Given the description of an element on the screen output the (x, y) to click on. 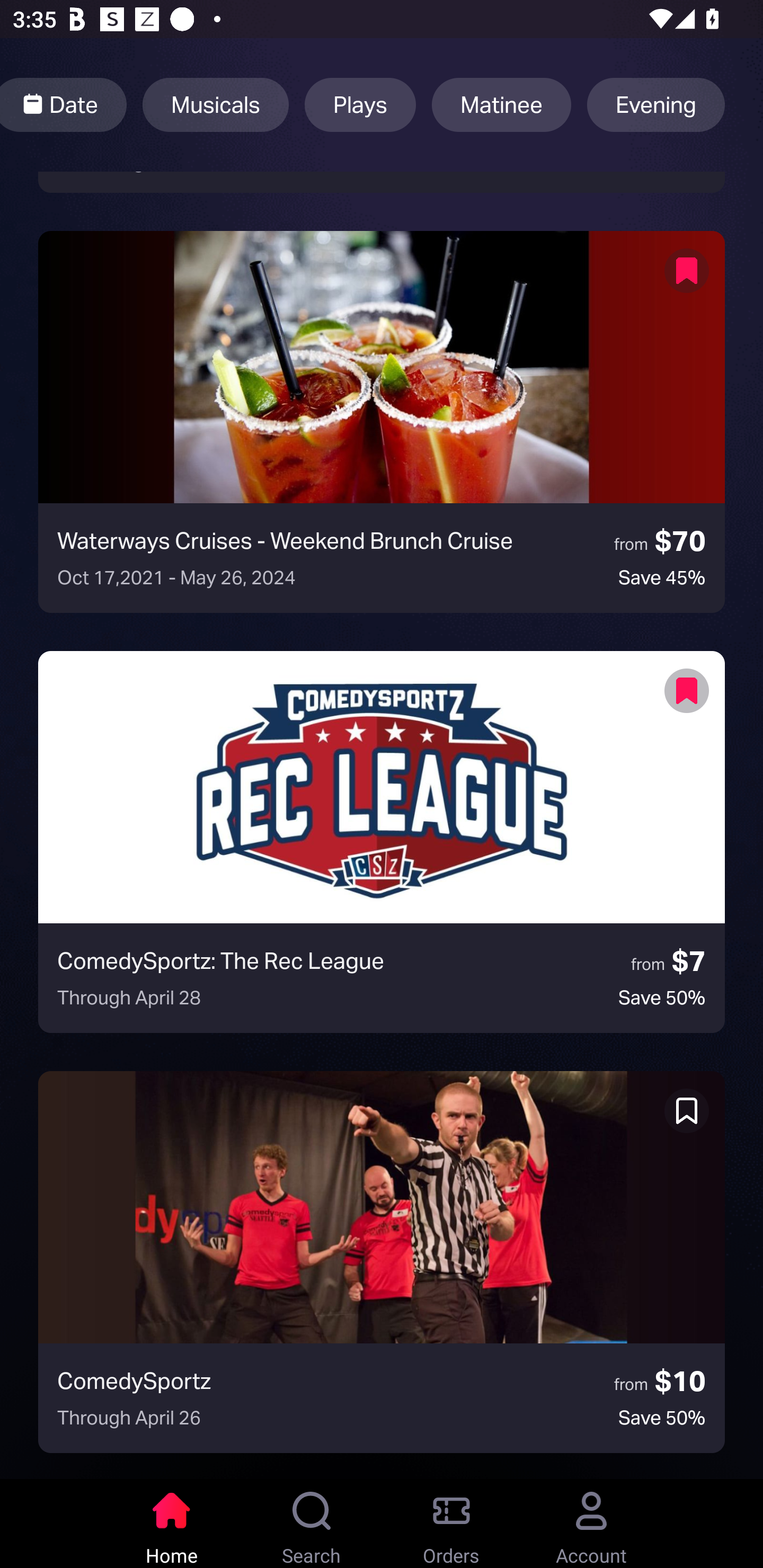
Date (63, 104)
Musicals (215, 104)
Plays (359, 104)
Matinee (501, 104)
Evening (655, 104)
Give the gift of theatre (381, 181)
ComedySportz from $10 Through April 26 Save 50% (381, 1261)
Search (311, 1523)
Orders (451, 1523)
Account (591, 1523)
